Given the description of an element on the screen output the (x, y) to click on. 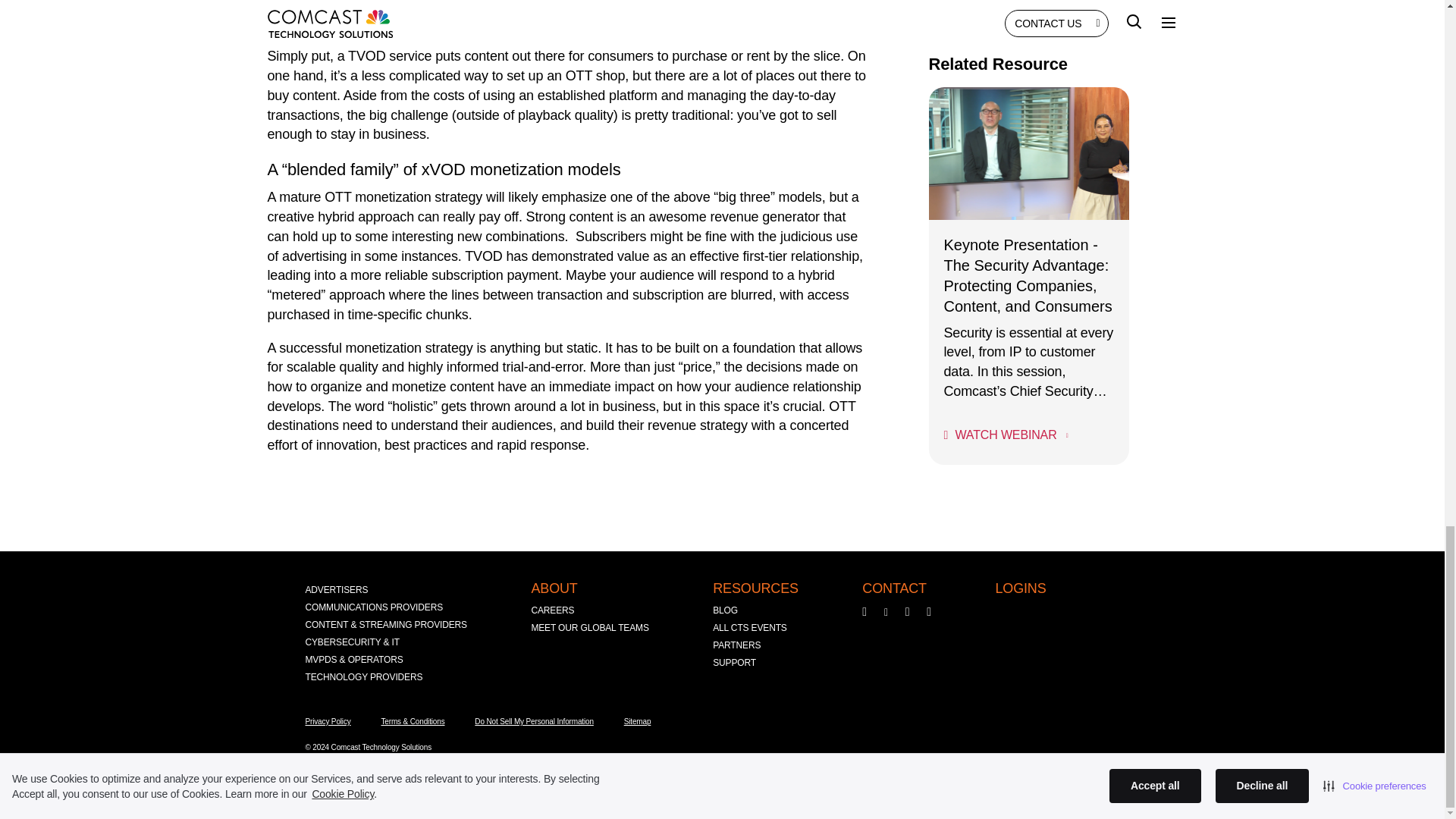
ADVERTISERS (336, 589)
COMMUNICATIONS PROVIDERS (373, 607)
TECHNOLOGY PROVIDERS (363, 677)
